Given the description of an element on the screen output the (x, y) to click on. 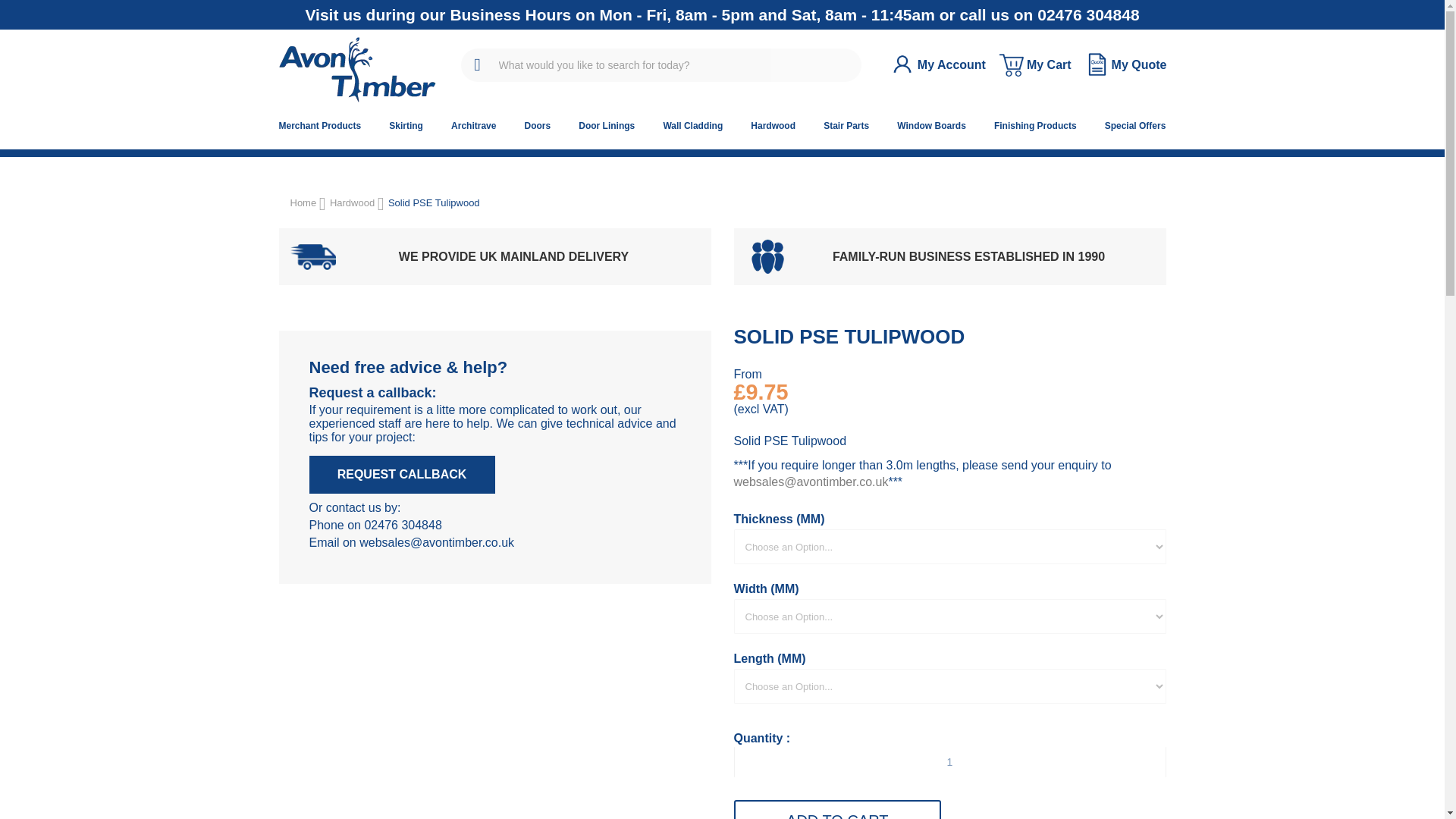
My Cart (1033, 64)
SEARCH (478, 64)
Skirting (405, 125)
Merchant Products (320, 125)
02476 304848 (1087, 14)
My Account (935, 64)
Add to Cart (837, 809)
My Quote (1123, 65)
Total Metres (949, 761)
Avon Timber (357, 69)
